Given the description of an element on the screen output the (x, y) to click on. 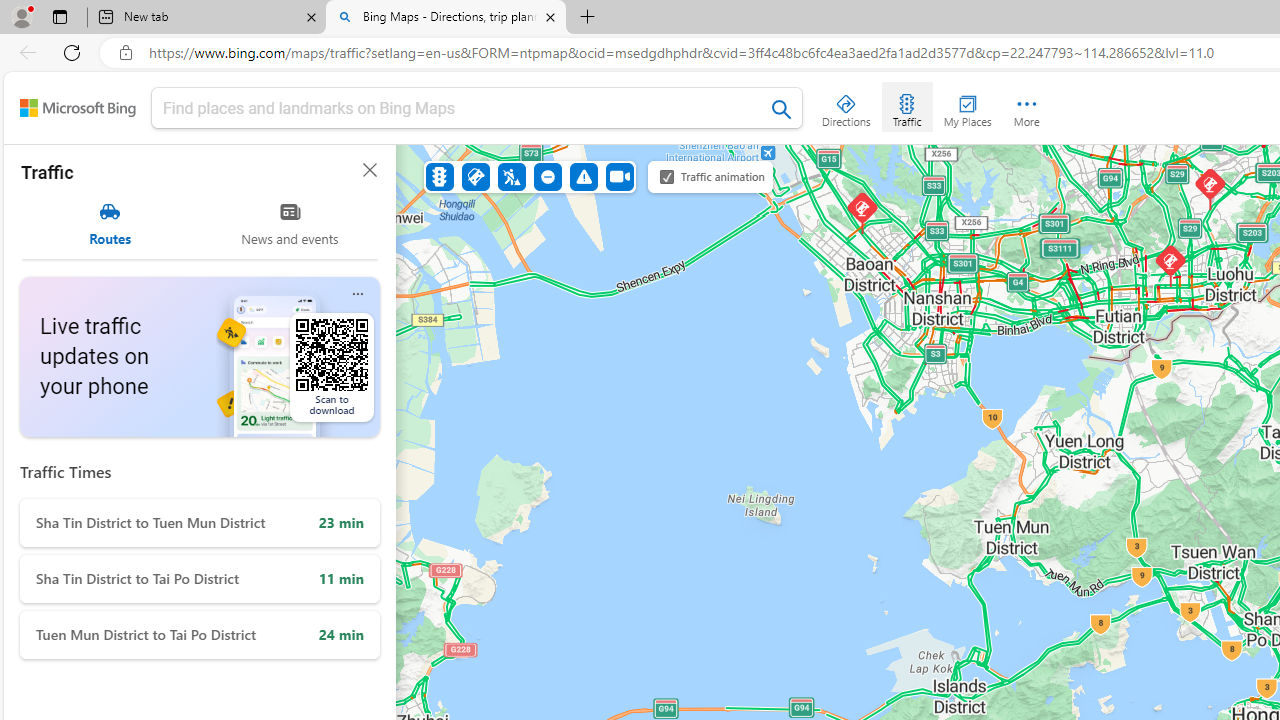
Miscellaneous incidents (583, 176)
My Places (967, 106)
Traffic animation (667, 176)
My Places (967, 106)
Sha Tin District to Tai Po District (200, 579)
News and events (290, 223)
Search Bing Maps (781, 109)
Directions (846, 106)
Class: sbElement (77, 107)
